Given the description of an element on the screen output the (x, y) to click on. 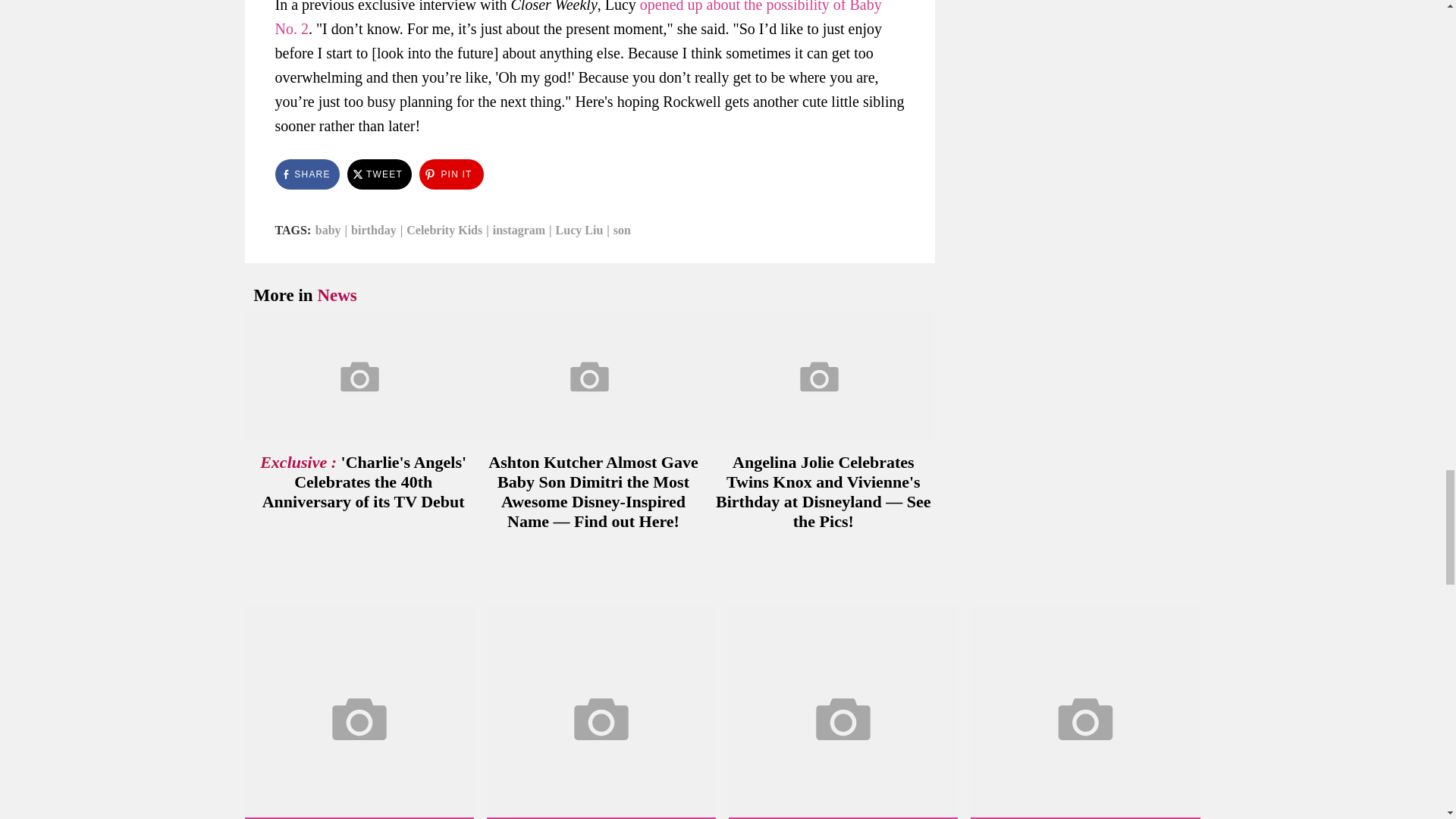
Click to share on Pinterest (451, 173)
Click to share on Twitter (379, 173)
Click to share on Facebook (307, 173)
